Given the description of an element on the screen output the (x, y) to click on. 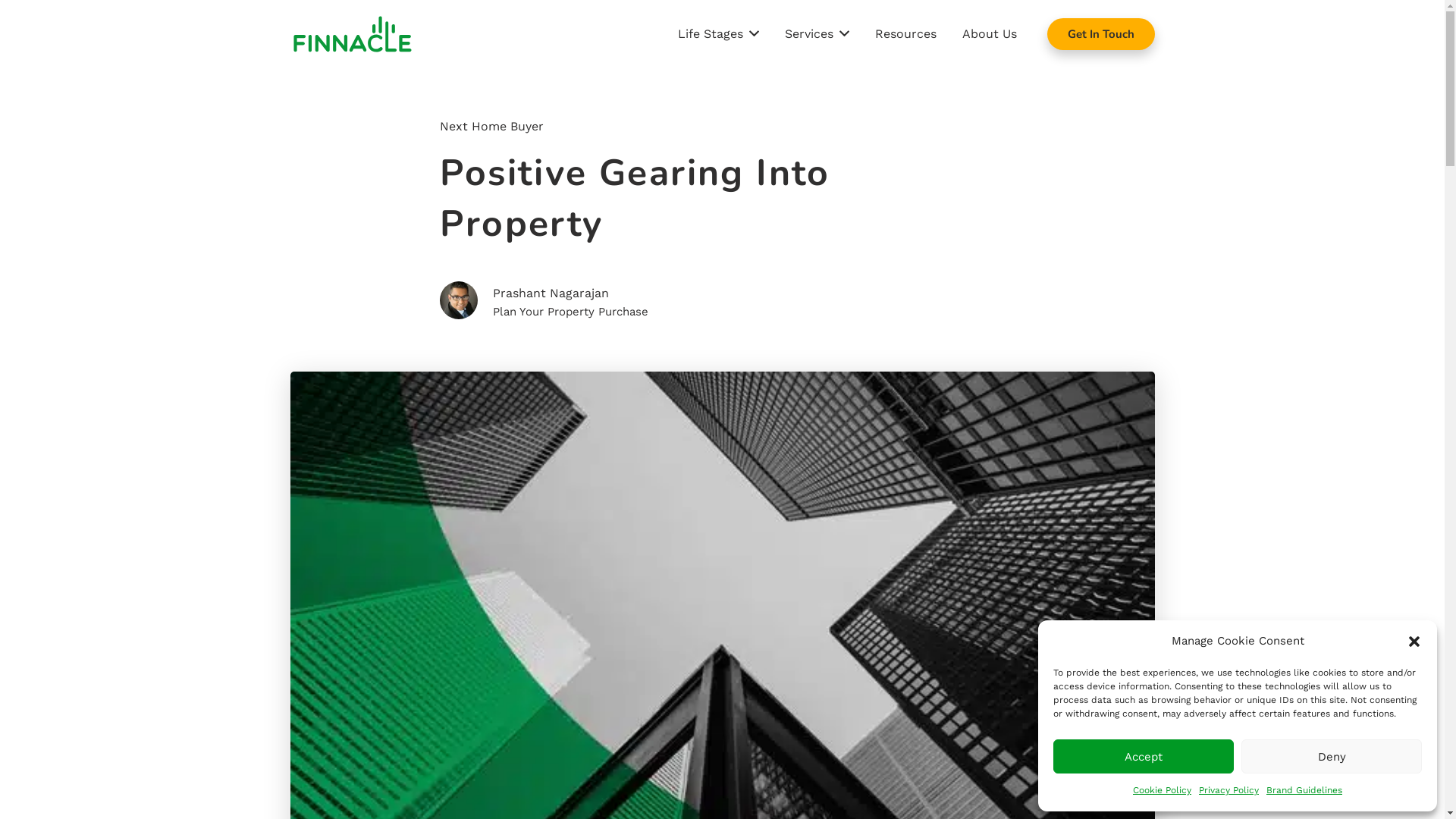
Privacy Policy Element type: text (1228, 790)
Brand Guidelines Element type: text (1304, 790)
Life Stages Element type: text (717, 34)
Resources Element type: text (905, 34)
Cookie Policy Element type: text (1161, 790)
Get In Touch Element type: text (1100, 34)
Accept Element type: text (1143, 756)
About Us Element type: text (989, 34)
Services Element type: text (816, 34)
Deny Element type: text (1331, 756)
